Given the description of an element on the screen output the (x, y) to click on. 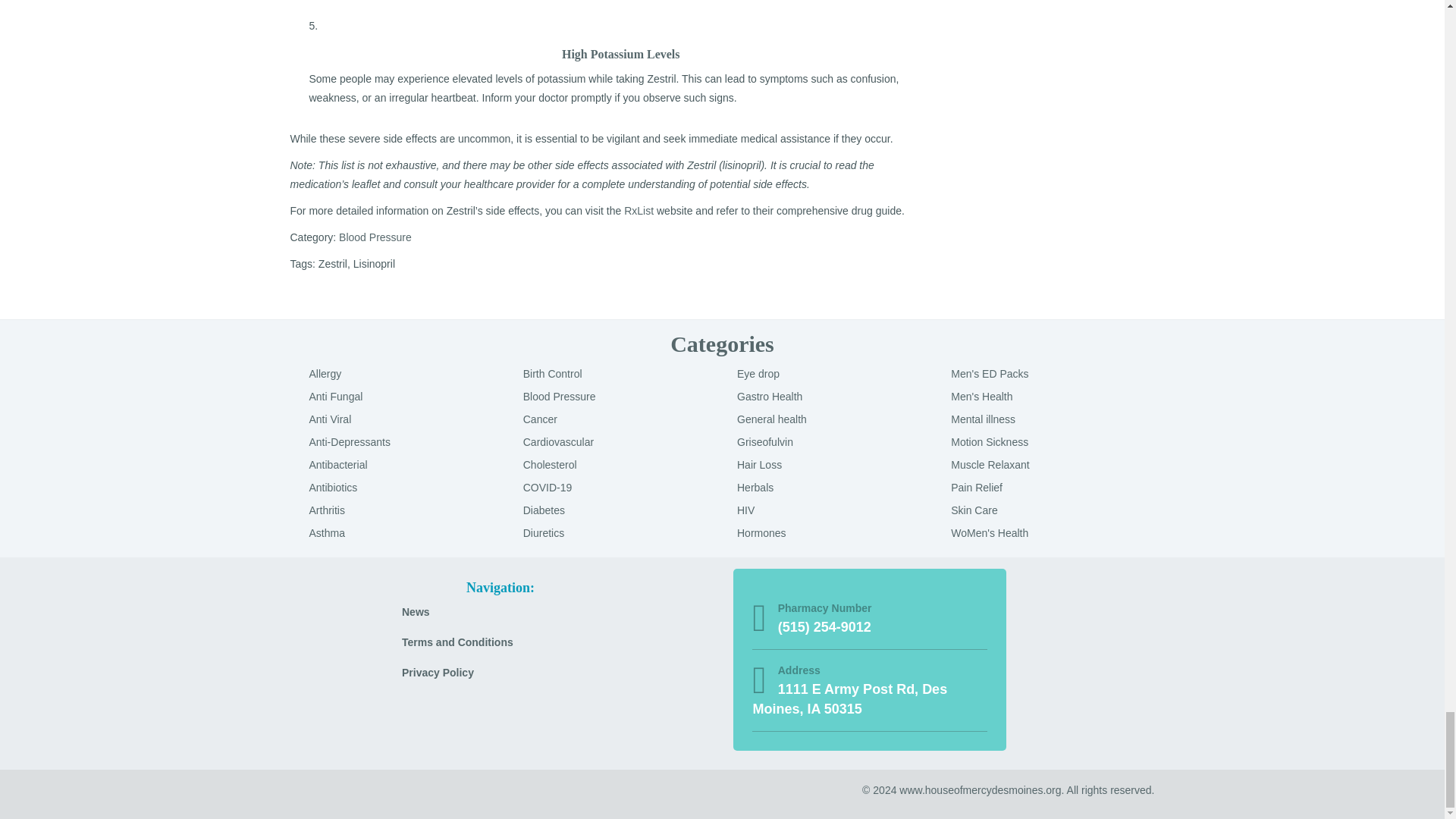
Antibacterial (338, 464)
RxList (638, 210)
Anti Viral (330, 419)
Allergy (325, 373)
Anti Fungal (335, 396)
Antibiotics (333, 487)
Arthritis (326, 510)
Anti-Depressants (349, 441)
Blood Pressure (375, 236)
